Given the description of an element on the screen output the (x, y) to click on. 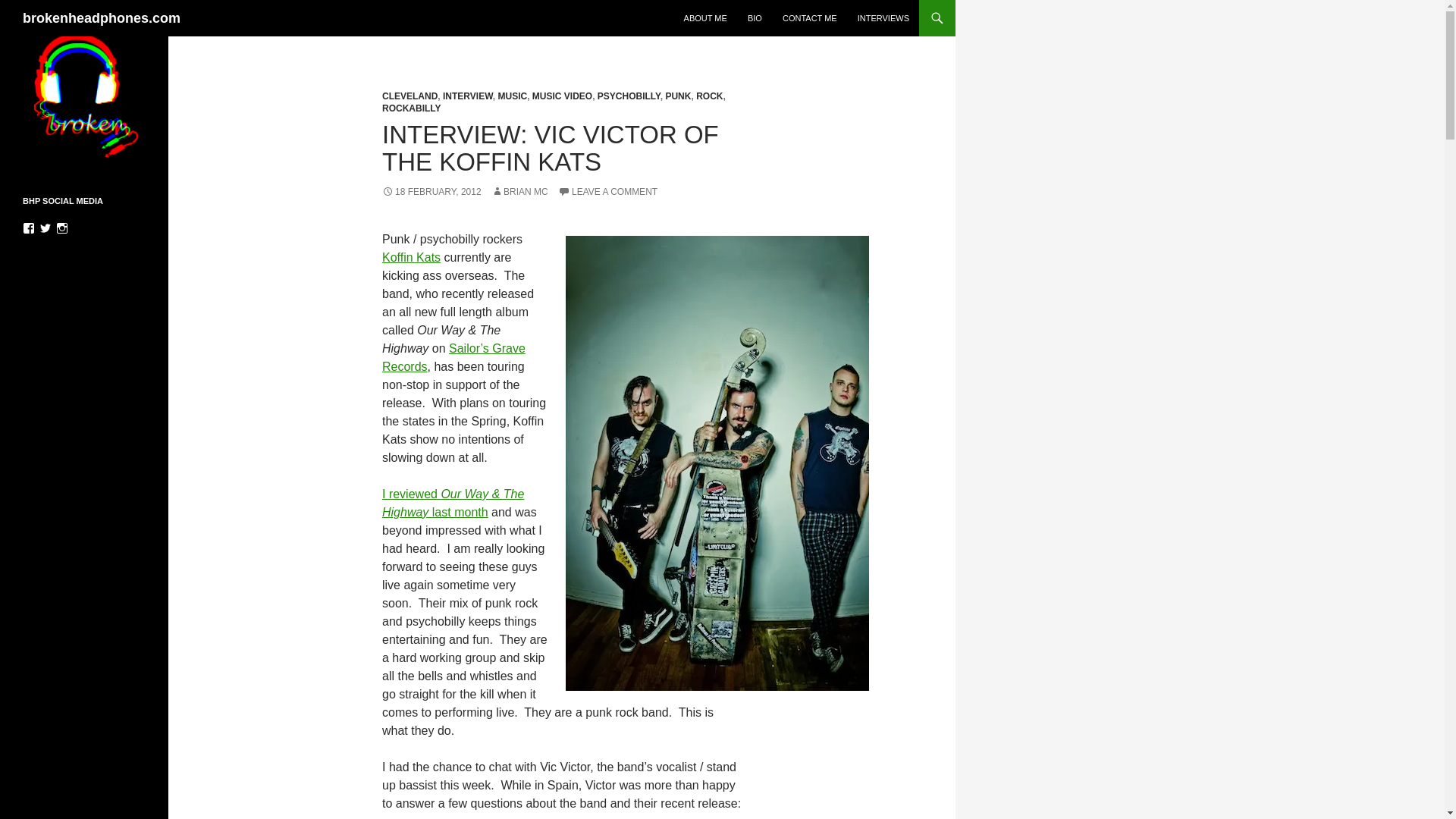
18 FEBRUARY, 2012 (431, 191)
CLEVELAND (409, 95)
ROCK (708, 95)
CONTACT ME (809, 18)
PSYCHOBILLY (628, 95)
ROCKABILLY (411, 108)
LEAVE A COMMENT (607, 191)
MUSIC (512, 95)
MUSIC VIDEO (562, 95)
ABOUT ME (705, 18)
Koffin Kats (411, 256)
brokenheadphones.com (101, 18)
BRIAN MC (520, 191)
INTERVIEWS (883, 18)
BIO (754, 18)
